Given the description of an element on the screen output the (x, y) to click on. 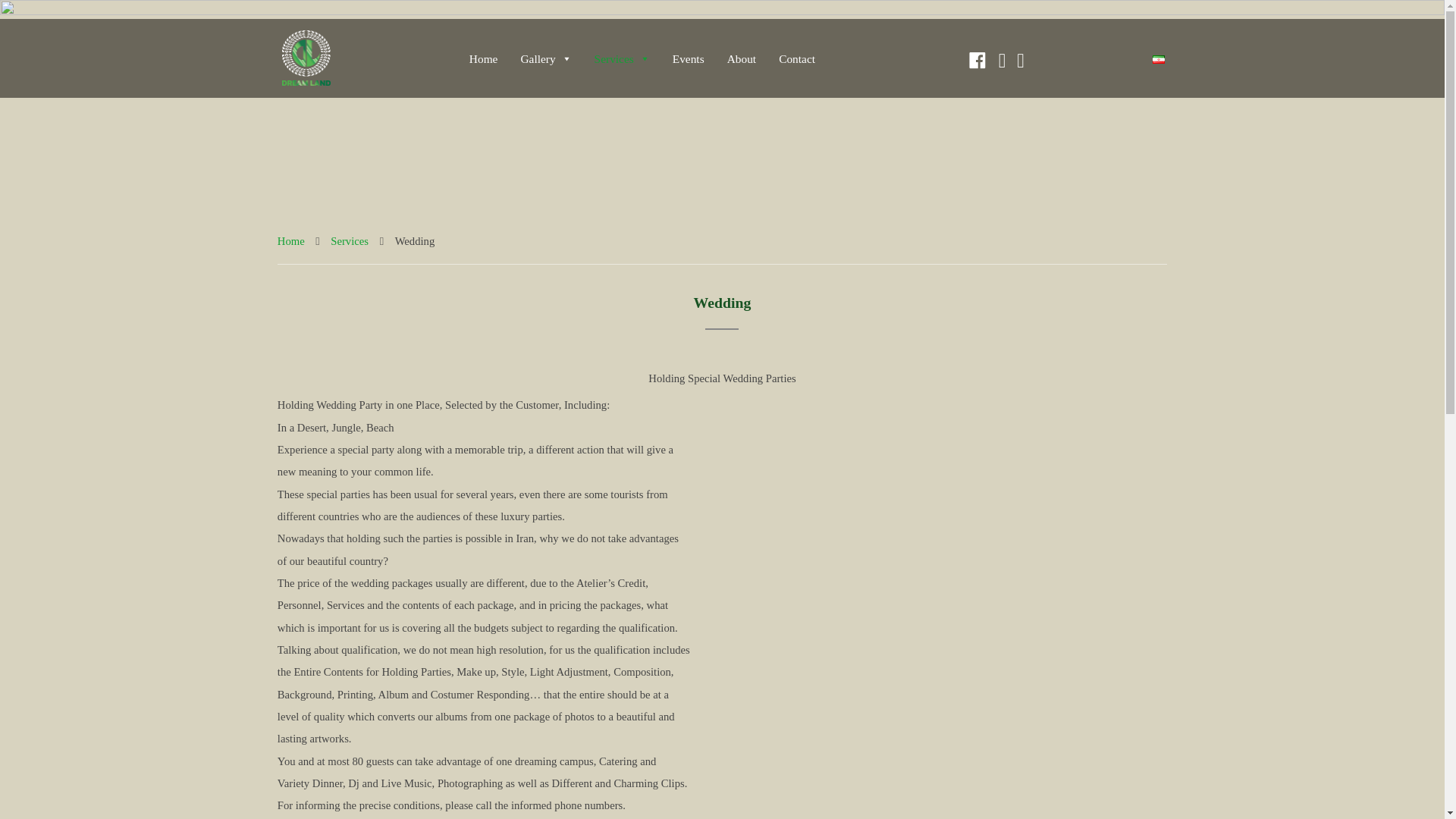
Go to the Services category archives. (349, 241)
Gallery (545, 58)
Contact (796, 58)
Services (349, 241)
Services (622, 58)
Go to Dream Land. (291, 241)
Home (291, 241)
